Given the description of an element on the screen output the (x, y) to click on. 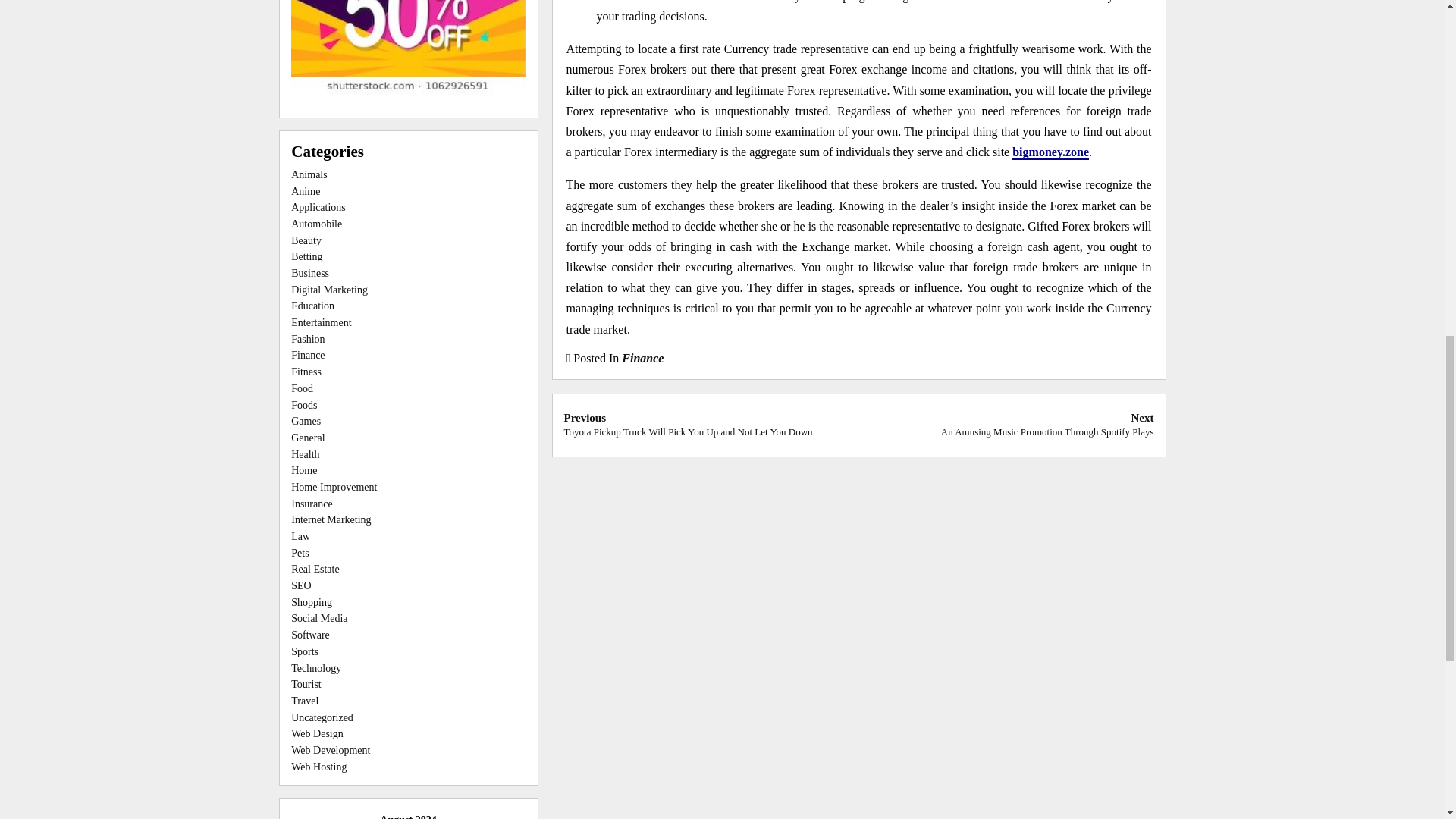
Fashion (307, 338)
Digital Marketing (329, 289)
bigmoney.zone (1050, 152)
Fitness (306, 371)
Home Improvement (334, 487)
Business (310, 273)
Automobile (316, 224)
Foods (304, 405)
Betting (306, 256)
Finance (642, 358)
